Given the description of an element on the screen output the (x, y) to click on. 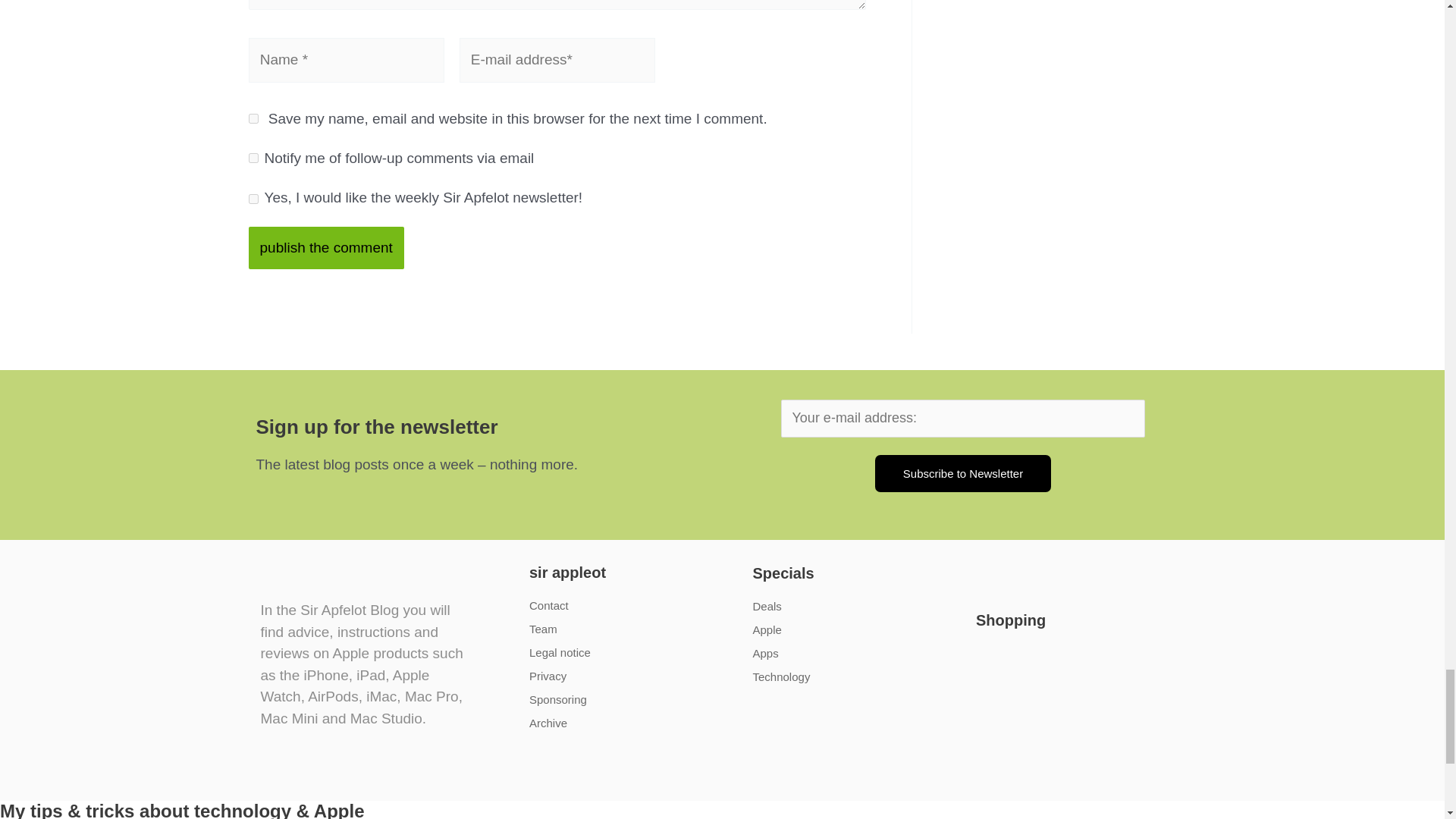
subscribe (253, 157)
publish the comment (326, 247)
yes (253, 118)
Subscribe to Newsletter (963, 473)
1 (253, 198)
